Given the description of an element on the screen output the (x, y) to click on. 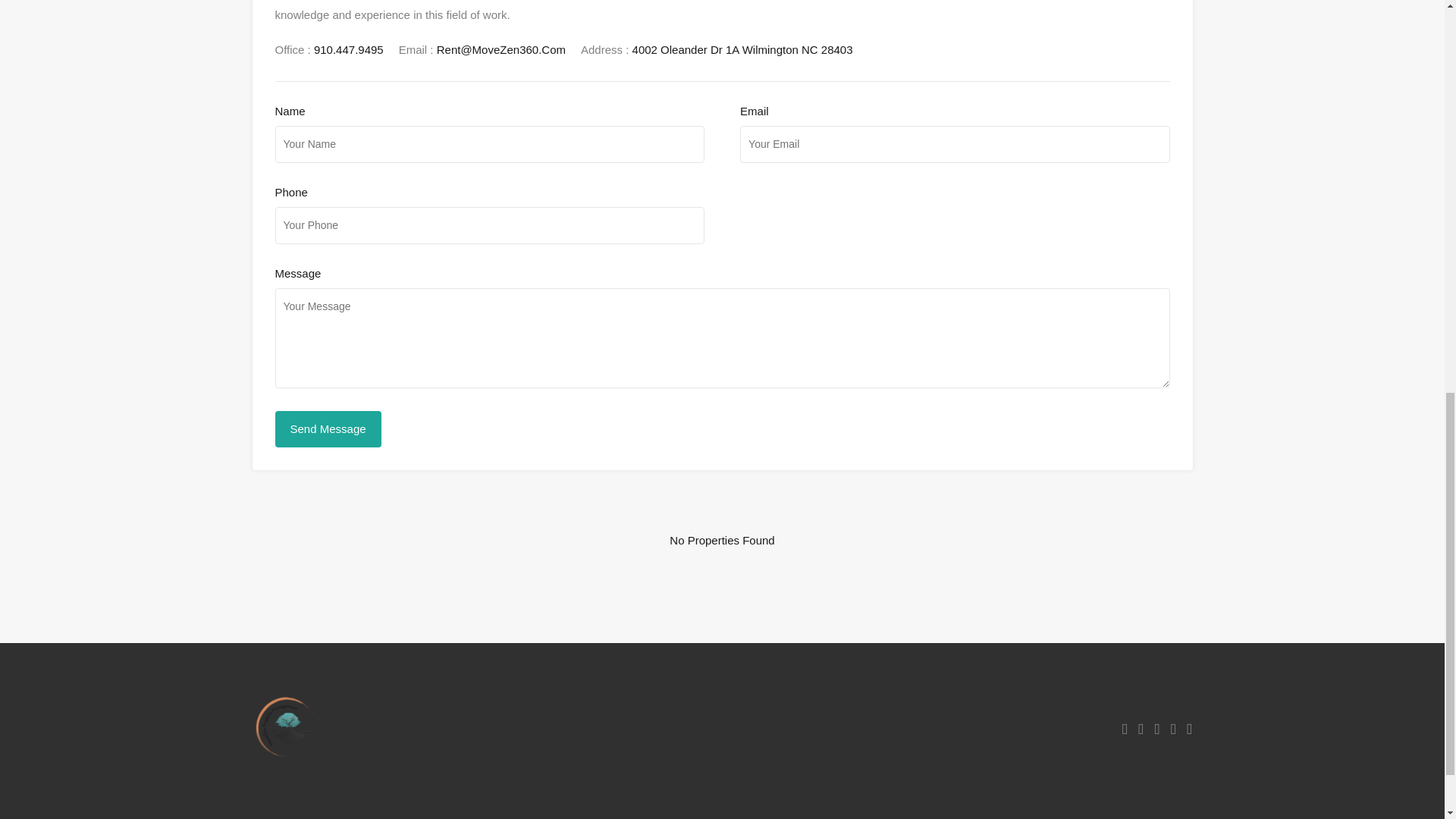
910.447.9495 (349, 49)
Send Message (327, 429)
Send Message (327, 429)
